Given the description of an element on the screen output the (x, y) to click on. 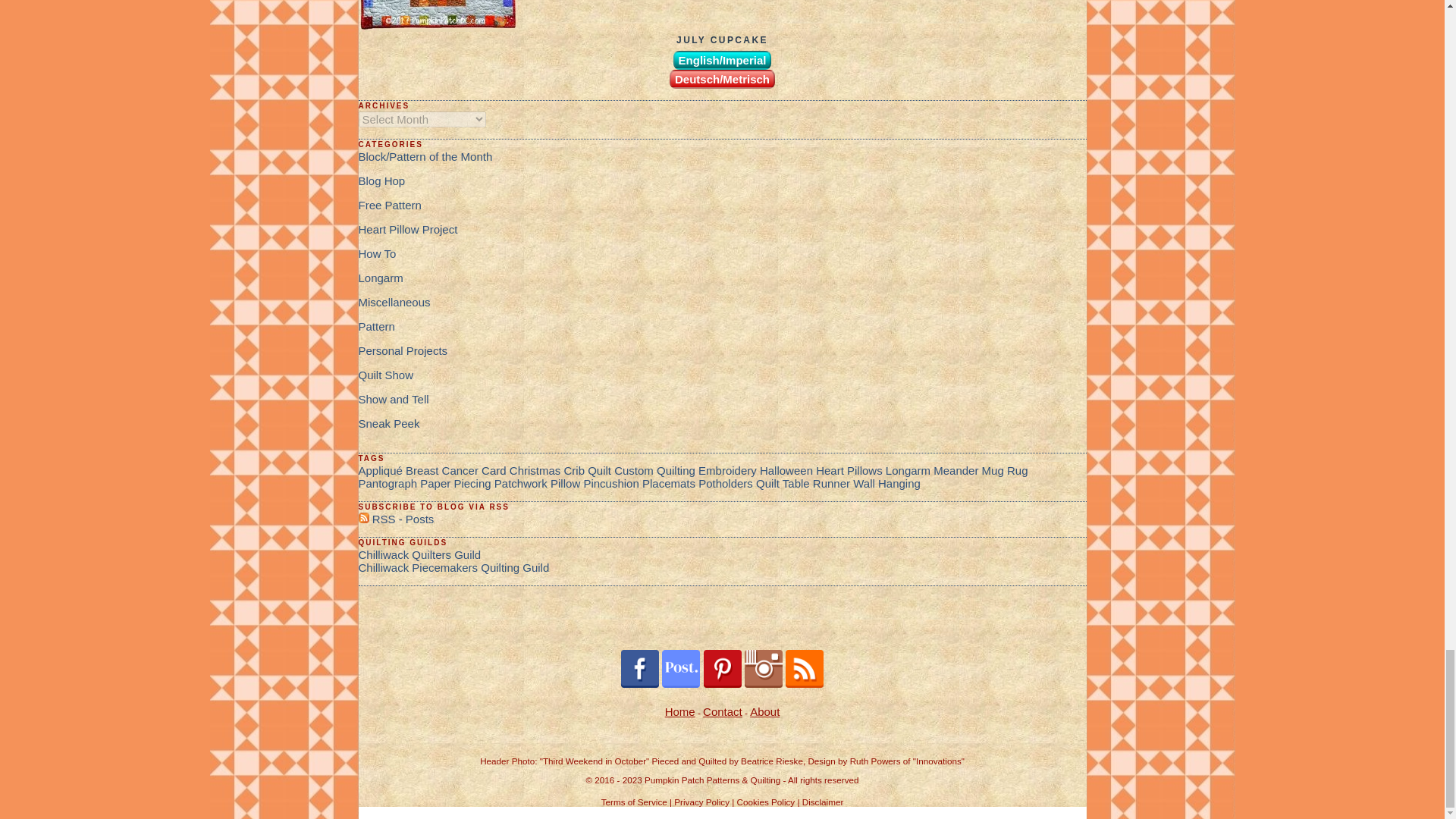
Subscribe to posts (395, 518)
